Given the description of an element on the screen output the (x, y) to click on. 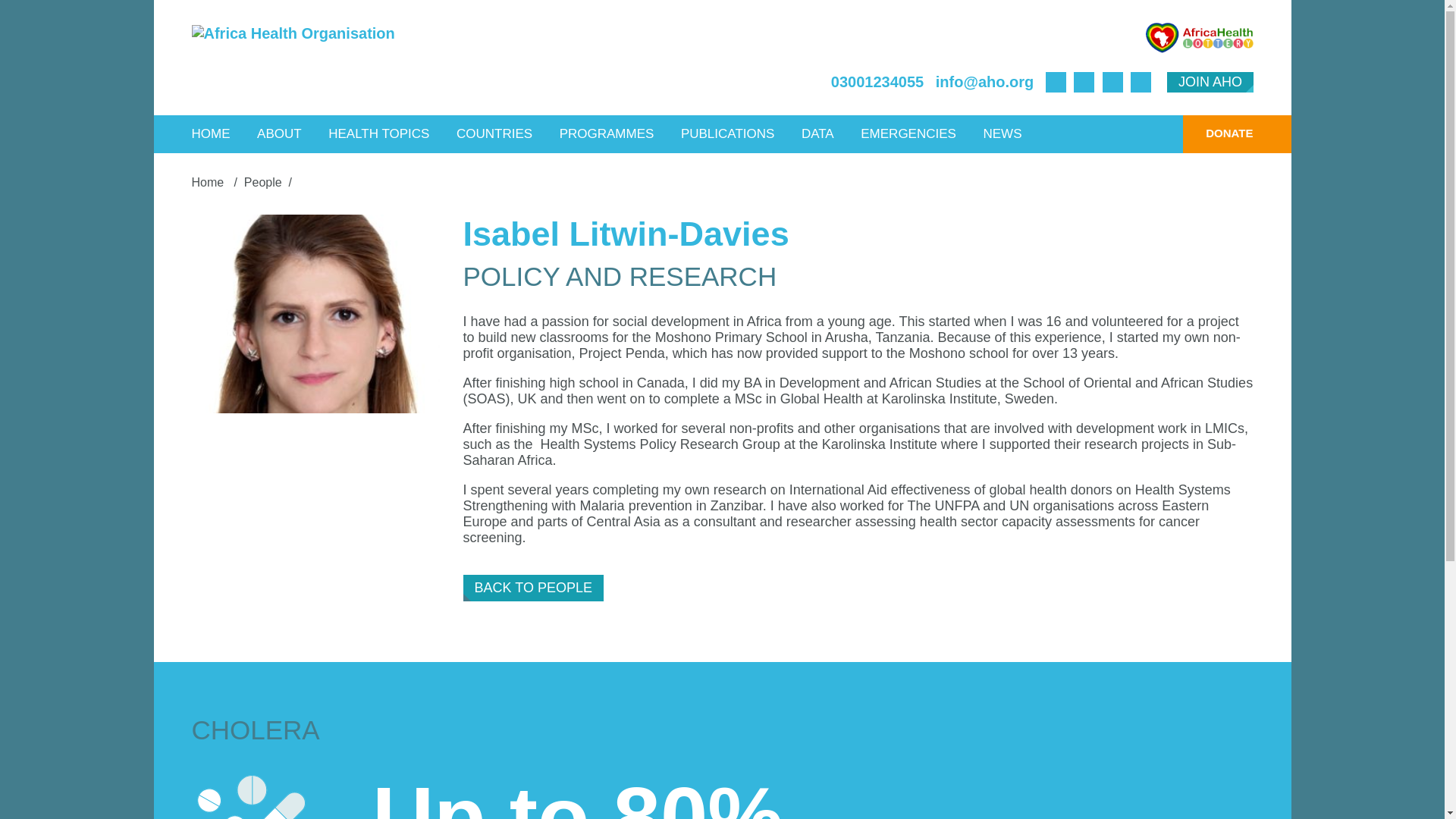
People (263, 182)
Home (208, 182)
Go to People. (263, 182)
DATA (817, 134)
JOIN AHO (1210, 82)
DONATE (1217, 134)
ABOUT (279, 134)
BACK TO PEOPLE (533, 587)
COUNTRIES (494, 134)
NEWS (1001, 134)
PUBLICATIONS (727, 134)
EMERGENCIES (908, 134)
HEALTH TOPICS (379, 134)
HOME (210, 134)
03001234055 (877, 81)
